Given the description of an element on the screen output the (x, y) to click on. 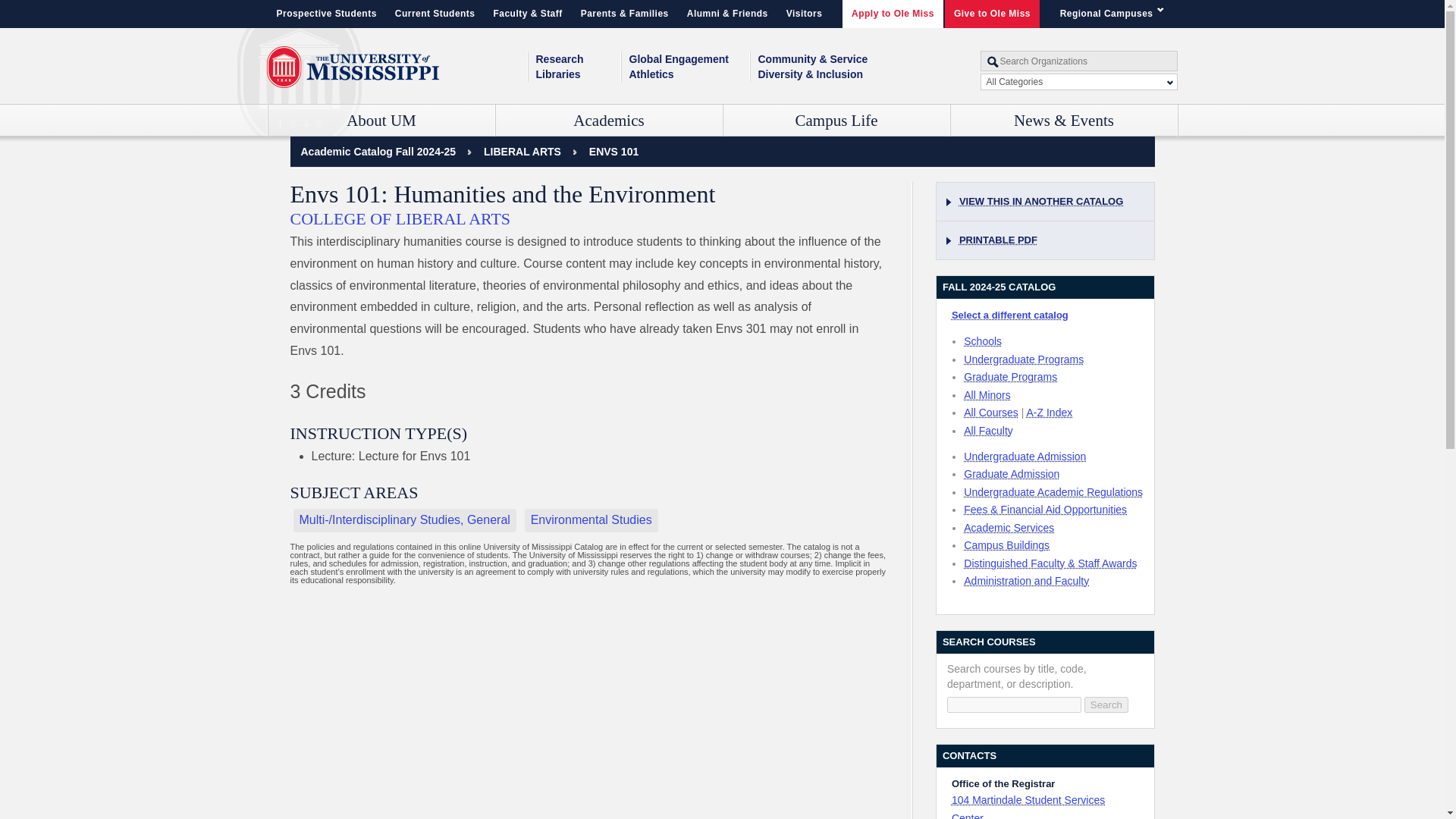
Current Students (434, 13)
Apply to Ole Miss (893, 13)
Academics (609, 120)
Give to Ole Miss (991, 13)
Libraries (577, 73)
Humanities and the Environment (614, 151)
Visitors (804, 13)
About UM (381, 120)
Prospective Students (325, 13)
Catalog home page (377, 151)
Athletics (688, 73)
Research (577, 58)
Campus Life (836, 120)
Global Engagement (688, 58)
Search UM for anything... (1077, 60)
